Given the description of an element on the screen output the (x, y) to click on. 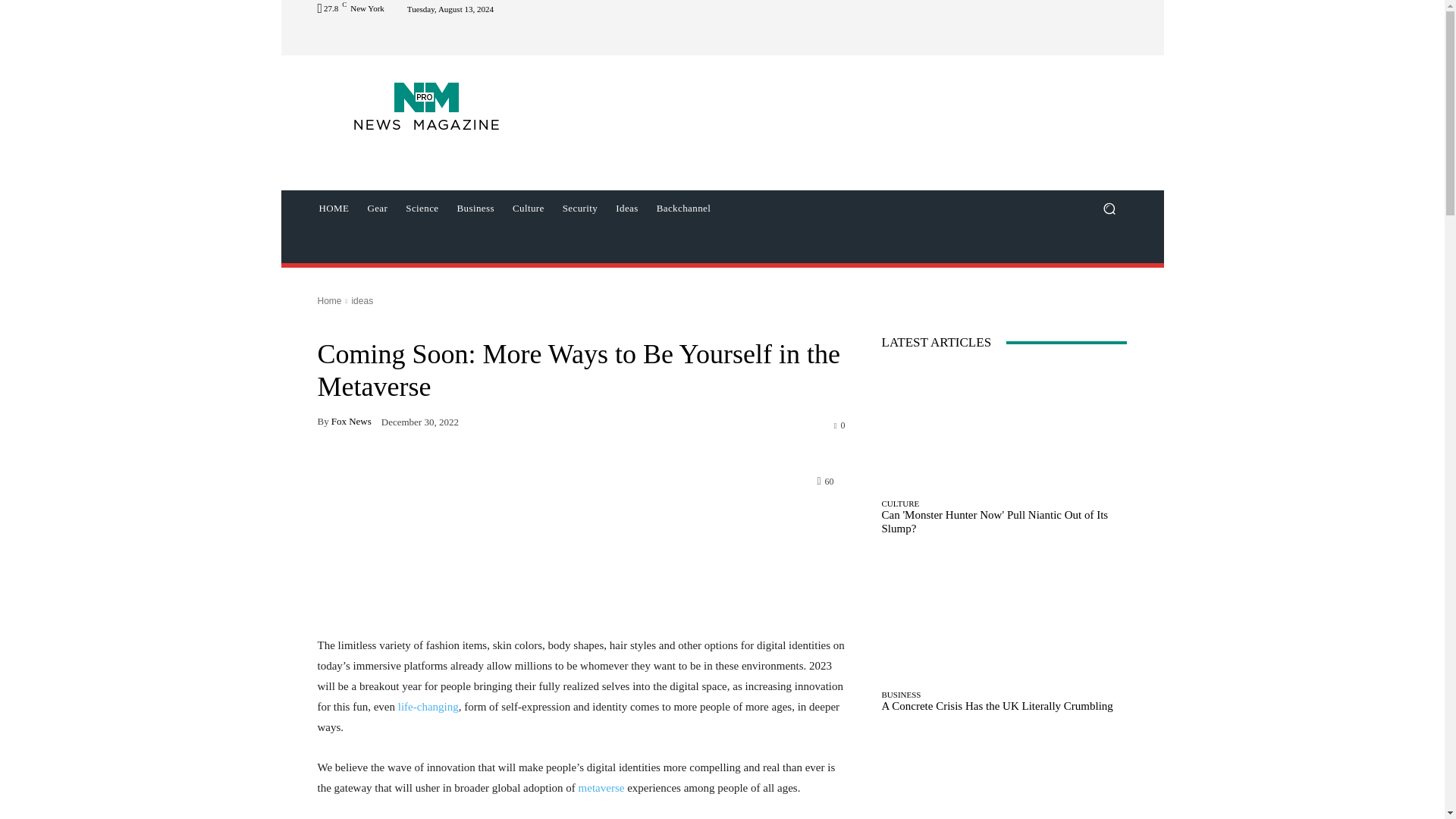
ideas (361, 300)
HOME (333, 208)
Ideas (626, 208)
Gear (377, 208)
Science (421, 208)
Business (474, 208)
Fox News (351, 420)
View all posts in ideas (361, 300)
Backchannel (683, 208)
0 (839, 424)
